Given the description of an element on the screen output the (x, y) to click on. 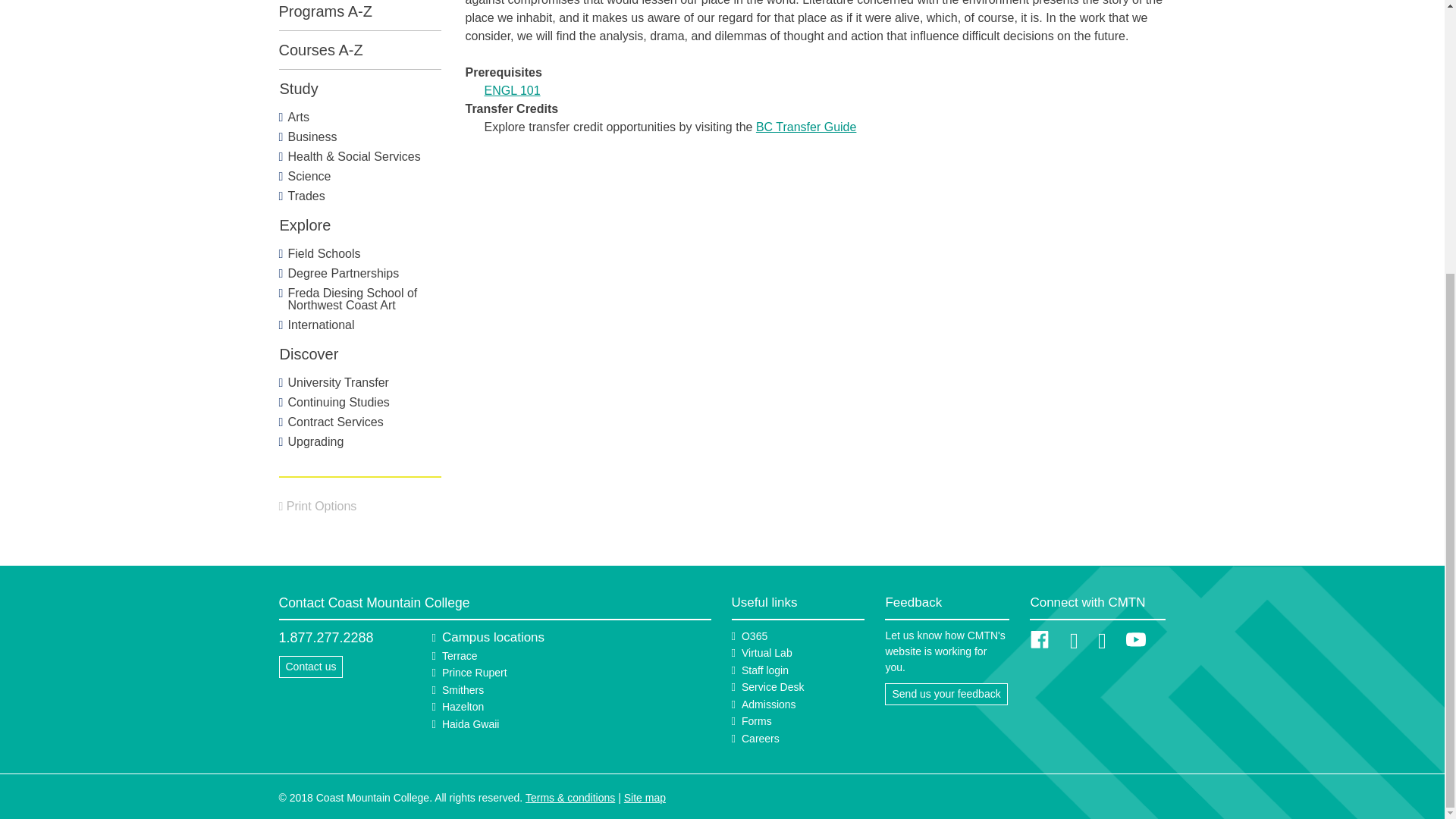
Youtube (1135, 638)
